Given the description of an element on the screen output the (x, y) to click on. 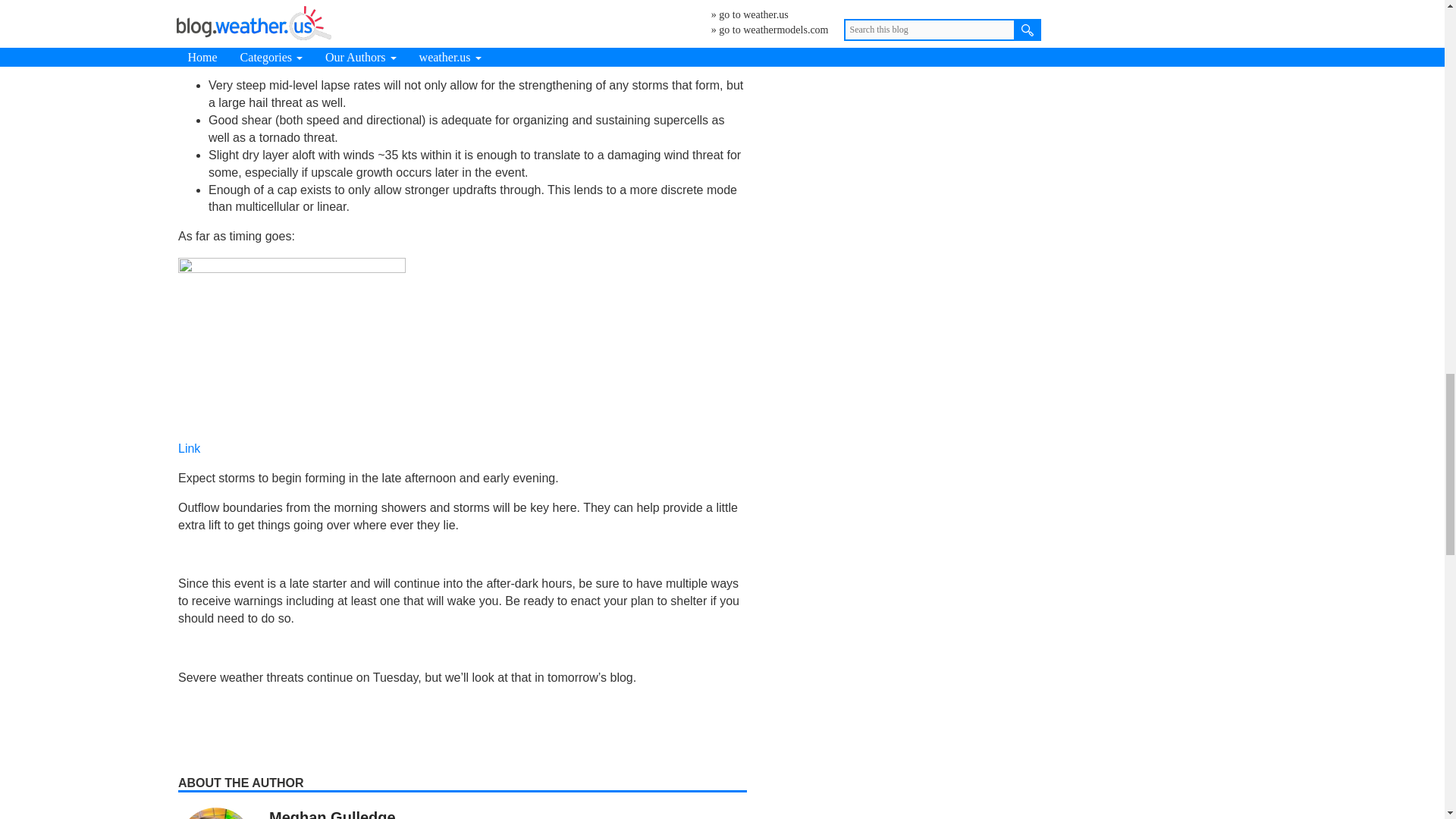
Meghan Gulledge (332, 814)
Link (188, 448)
